Given the description of an element on the screen output the (x, y) to click on. 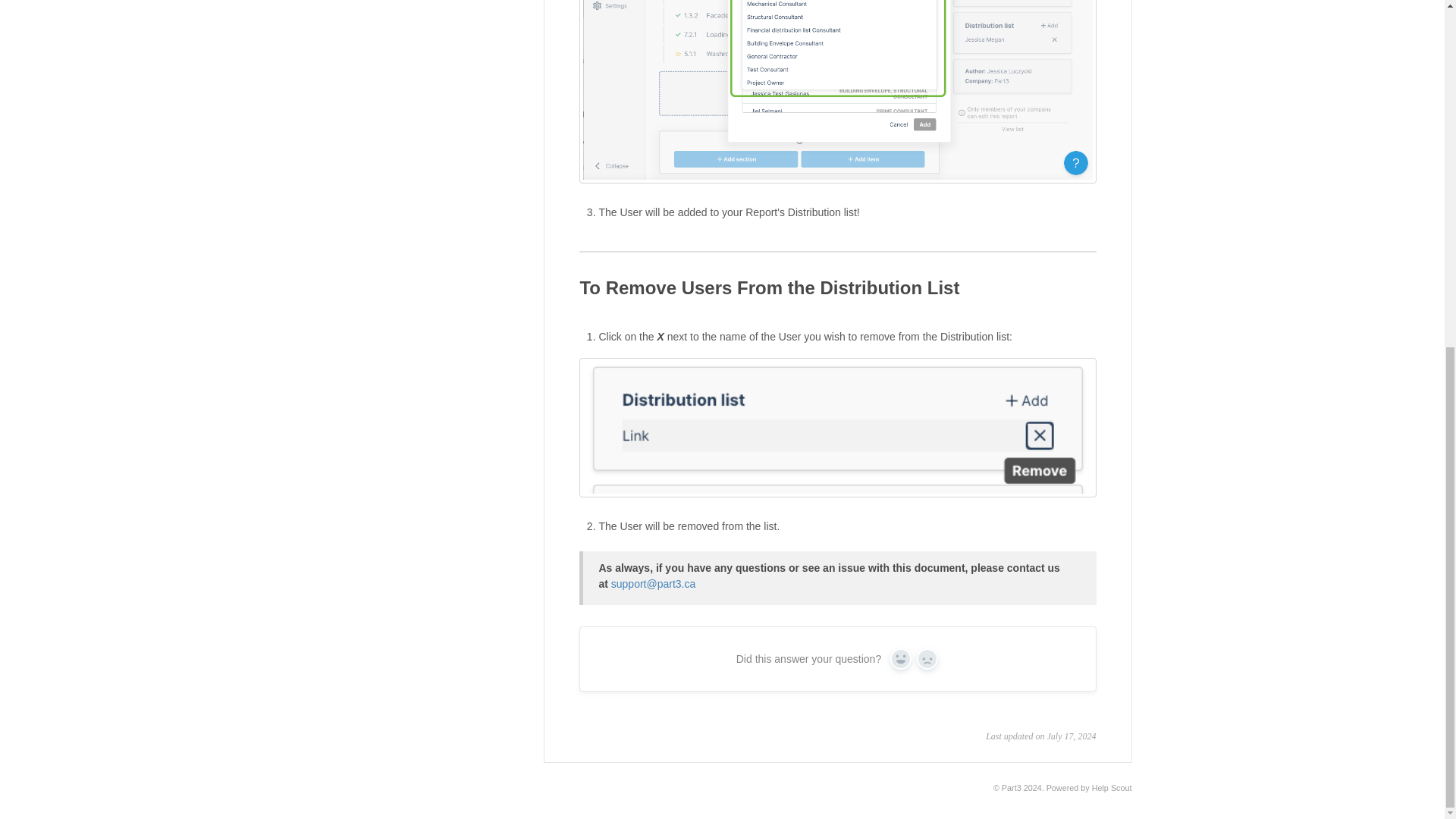
No (927, 658)
Help Scout (1112, 787)
Project Data (345, 2)
Yes (900, 658)
